Given the description of an element on the screen output the (x, y) to click on. 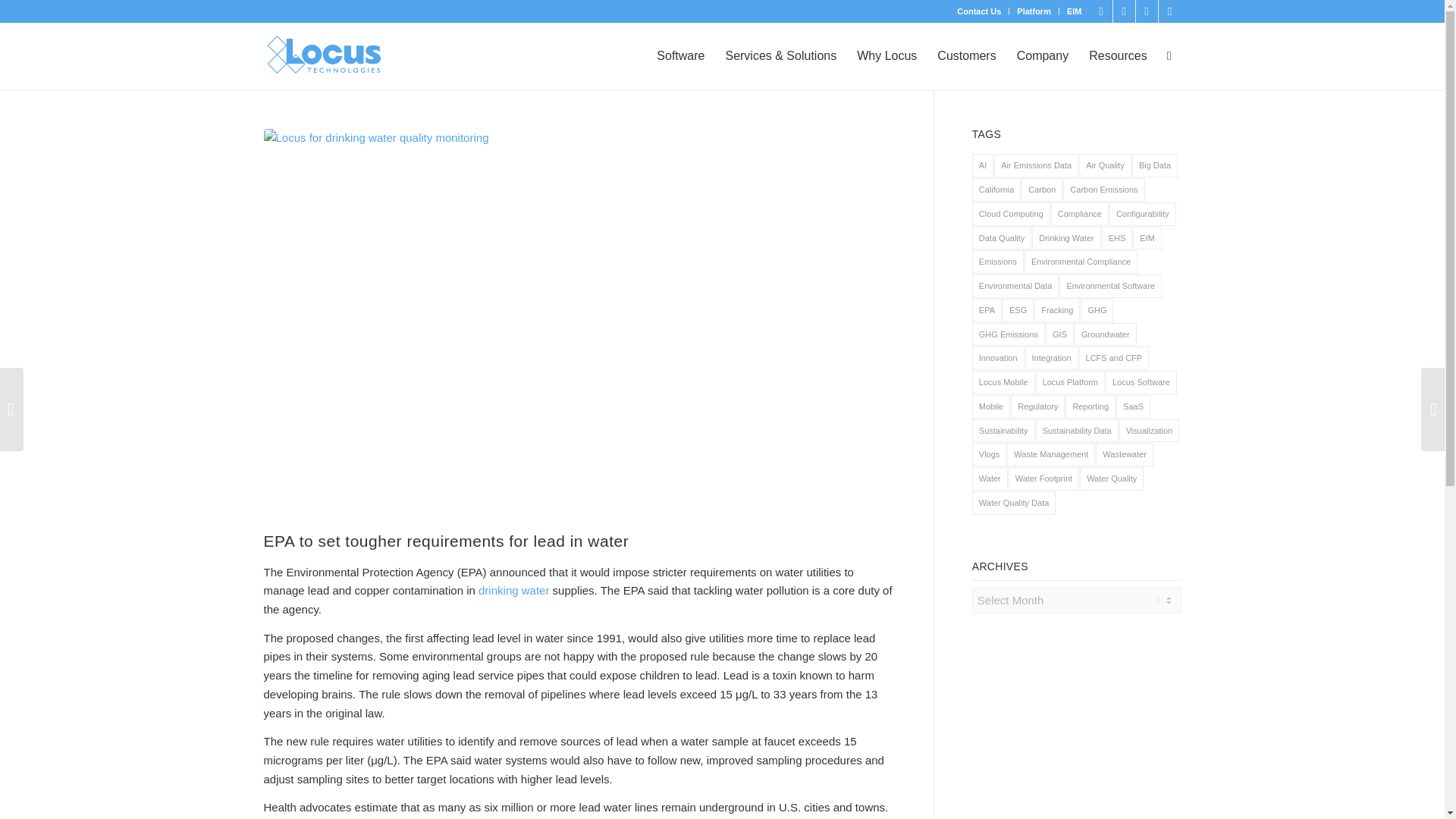
Customers (966, 55)
Platform (1033, 11)
Facebook (1124, 11)
Why Locus (885, 55)
Twitter (1146, 11)
Software (680, 55)
LinkedIn (1101, 11)
Youtube (1169, 11)
Contact Us (978, 11)
